Given the description of an element on the screen output the (x, y) to click on. 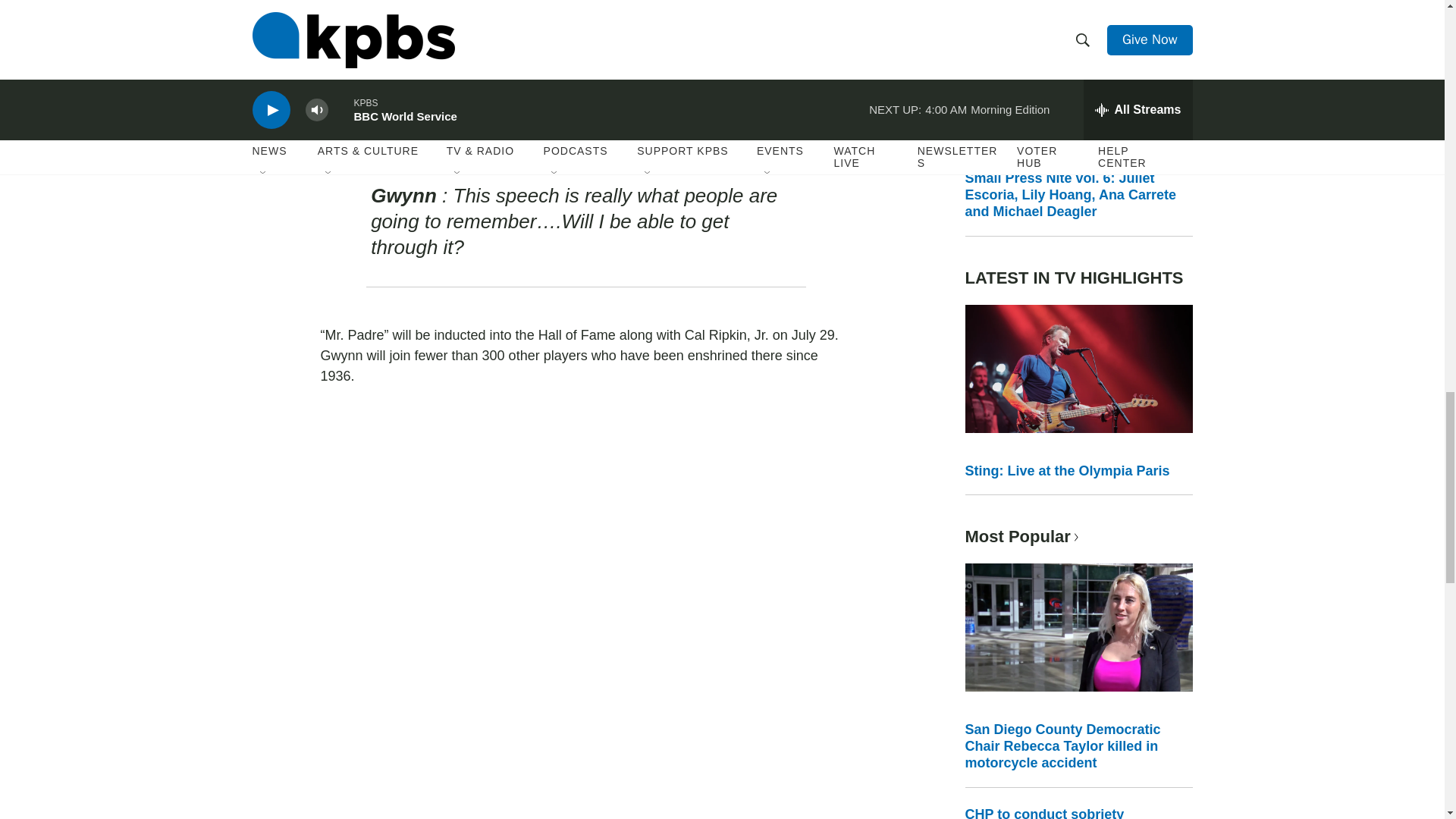
3rd party ad content (584, 70)
